Given the description of an element on the screen output the (x, y) to click on. 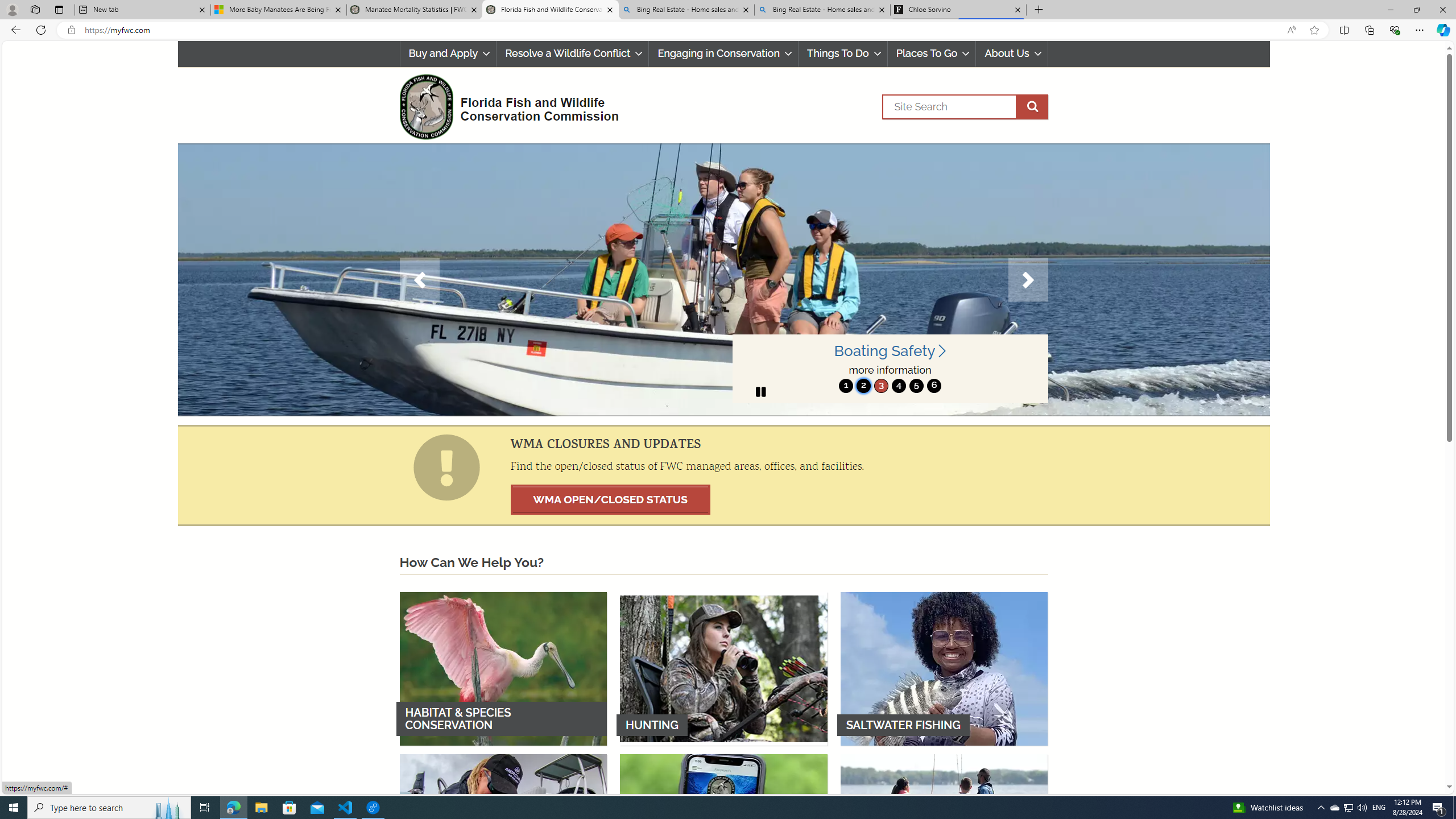
Back (13, 29)
Address and search bar (680, 29)
1 (845, 385)
move to slide 3 (880, 385)
Resolve a Wildlife Conflict (572, 53)
Boating Safety  (890, 351)
Tab actions menu (58, 9)
move to slide 4 (898, 385)
2 (863, 385)
Close tab (1017, 9)
Bing Real Estate - Home sales and rental listings (822, 9)
SALTWATER FISHING (944, 668)
4 (898, 385)
Refresh (40, 29)
3 (880, 385)
